Given the description of an element on the screen output the (x, y) to click on. 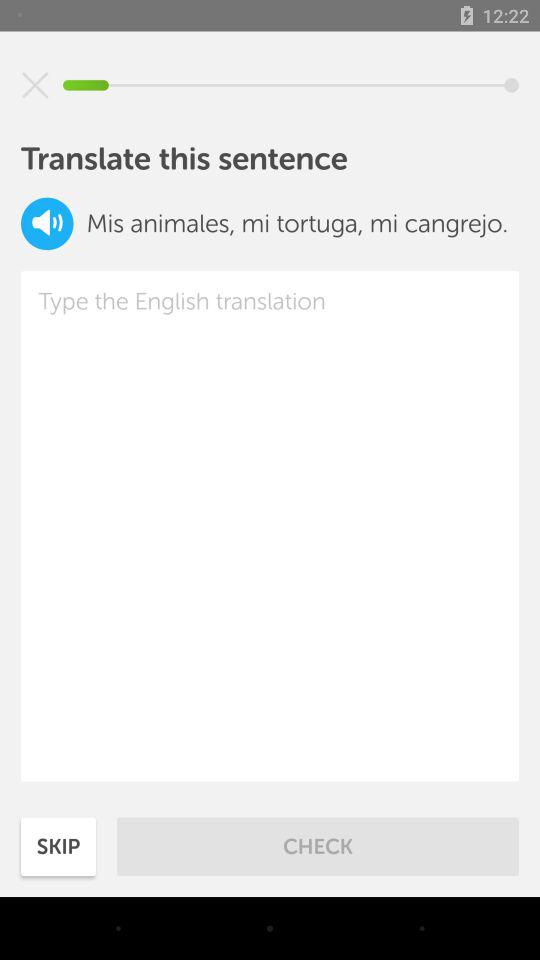
auto play (47, 223)
